Given the description of an element on the screen output the (x, y) to click on. 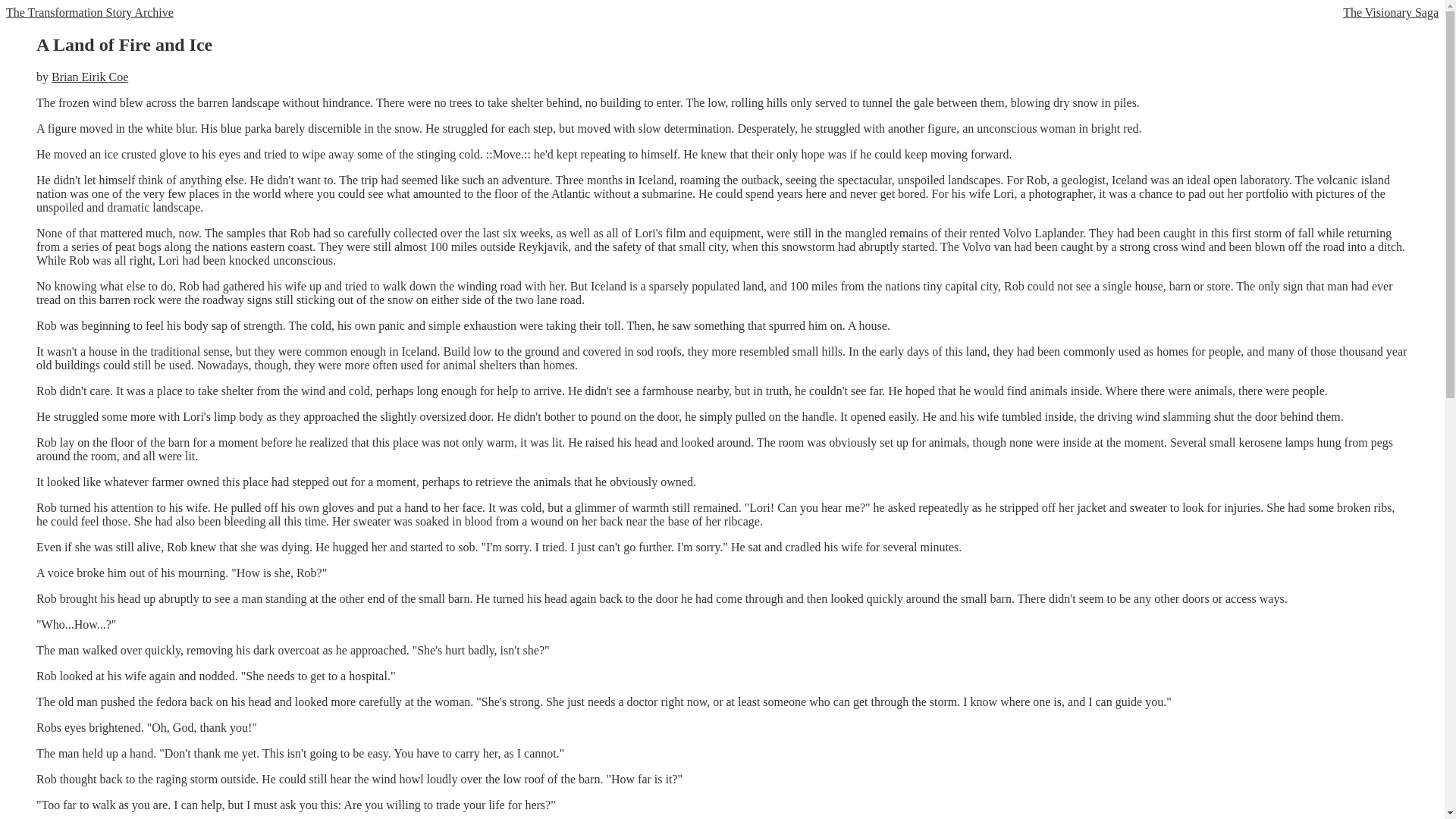
The Transformation Story Archive (89, 11)
Brian Eirik Coe (89, 76)
The Visionary Saga (1390, 11)
